Given the description of an element on the screen output the (x, y) to click on. 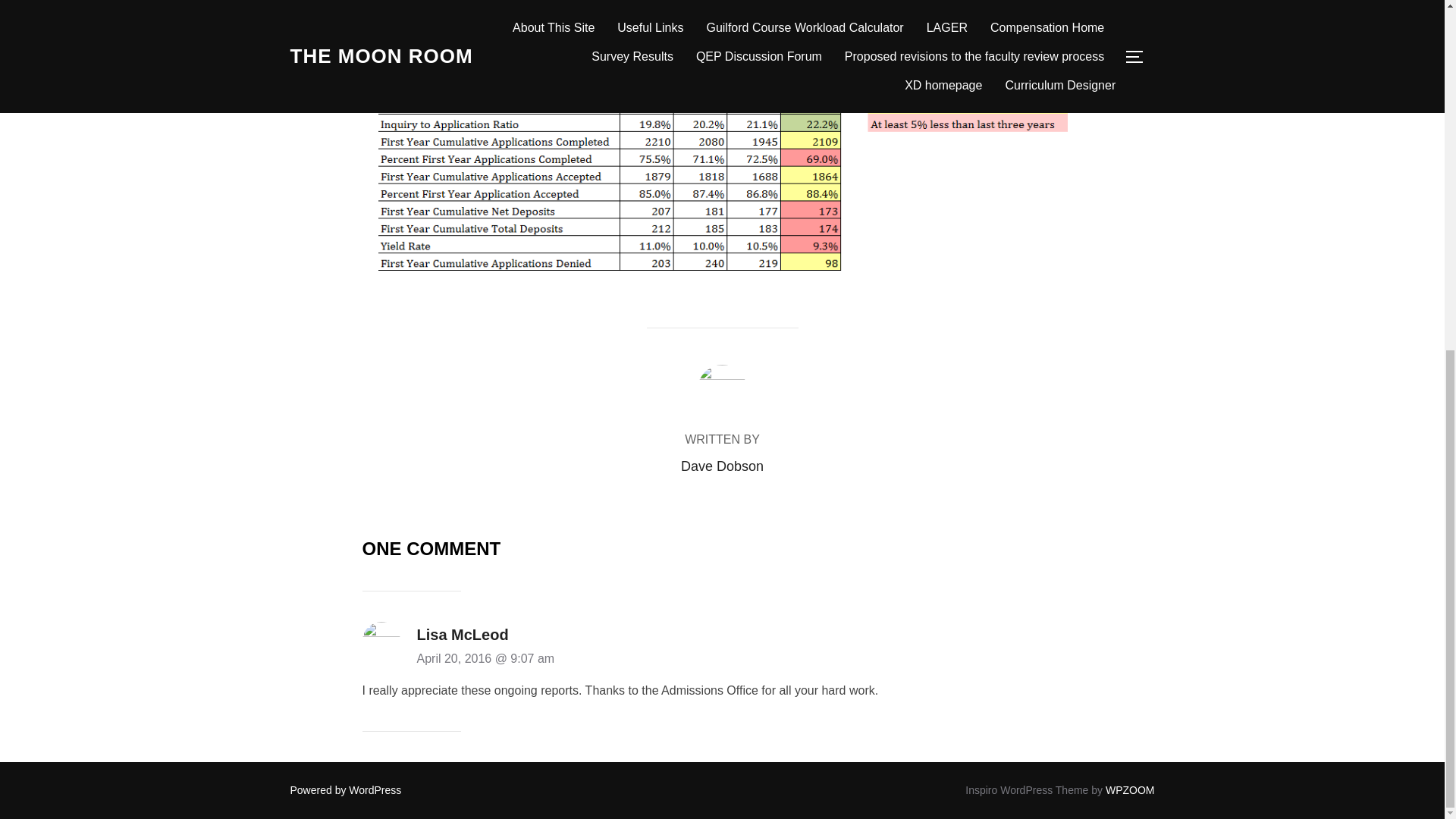
Posts by Dave Dobson (721, 466)
